Given the description of an element on the screen output the (x, y) to click on. 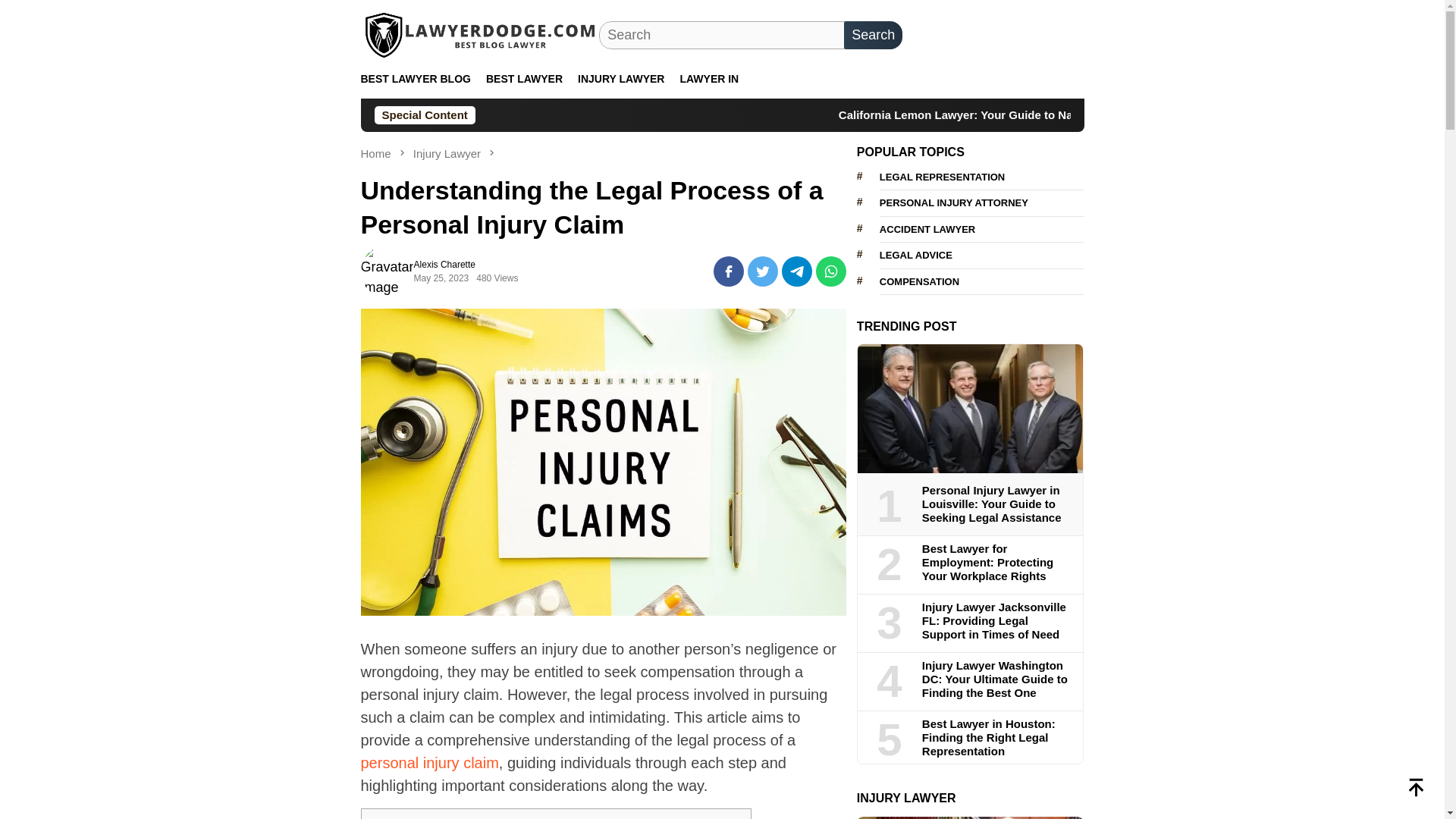
Permalink to: Alexis Charette (387, 269)
Injury Lawyer (448, 153)
INJURY LAWYER (620, 78)
Search (873, 35)
BEST LAWYER (524, 78)
personal injury claim (430, 762)
Lawyerdodge.com (480, 34)
LAWYER IN (708, 78)
